Given the description of an element on the screen output the (x, y) to click on. 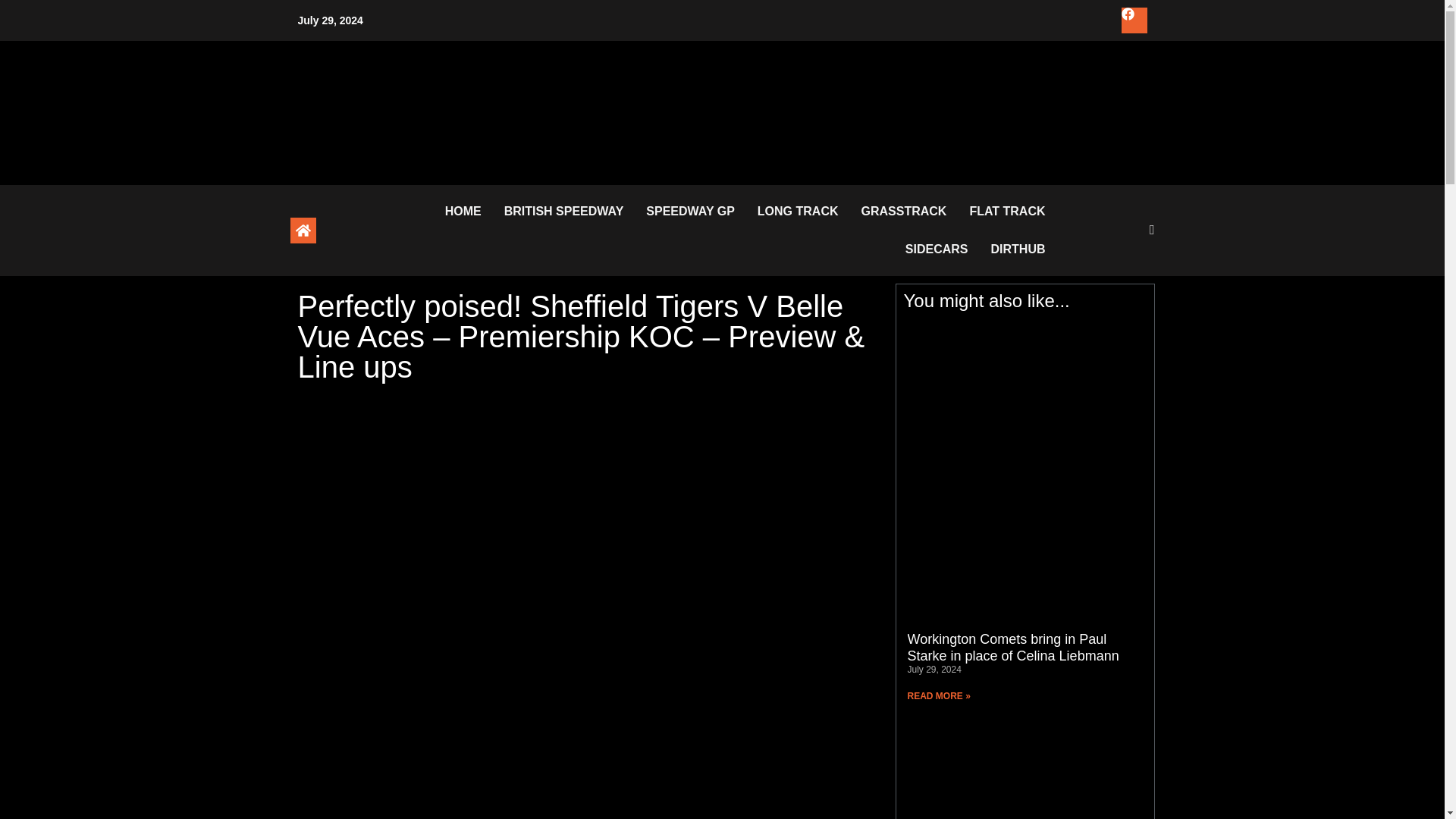
SIDECARS (948, 249)
FLAT TRACK (1018, 211)
SPEEDWAY GP (701, 211)
HOME (474, 211)
GRASSTRACK (914, 211)
BRITISH SPEEDWAY (574, 211)
DIRTHUB (1028, 249)
LONG TRACK (809, 211)
